Given the description of an element on the screen output the (x, y) to click on. 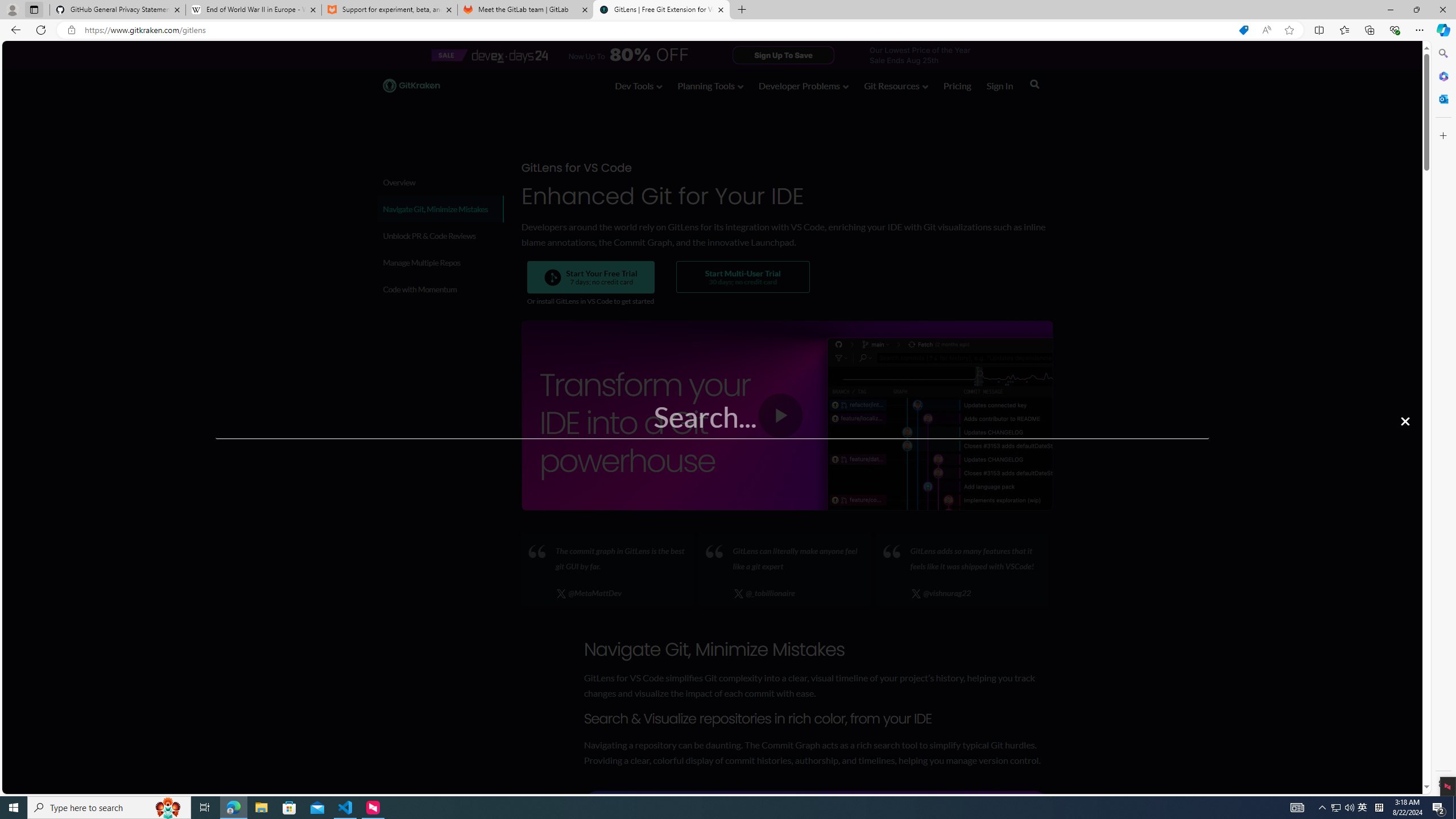
Overview (440, 181)
